Given the description of an element on the screen output the (x, y) to click on. 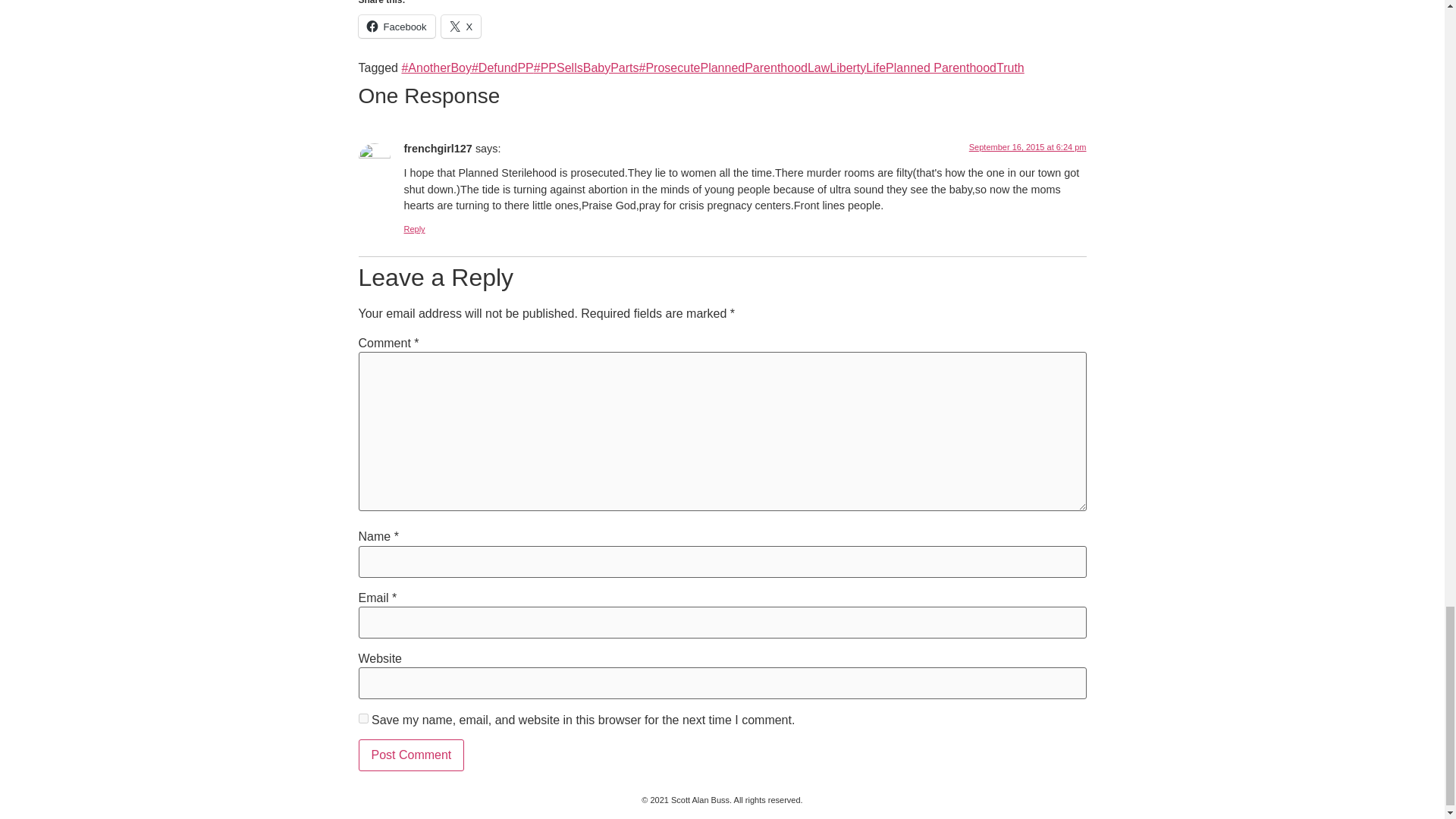
Truth (1010, 67)
Planned Parenthood (940, 67)
Life (875, 67)
Law (818, 67)
Post Comment (411, 755)
X (461, 26)
yes (363, 718)
Click to share on Facebook (395, 26)
Click to share on X (461, 26)
Liberty (847, 67)
Facebook (395, 26)
